Given the description of an element on the screen output the (x, y) to click on. 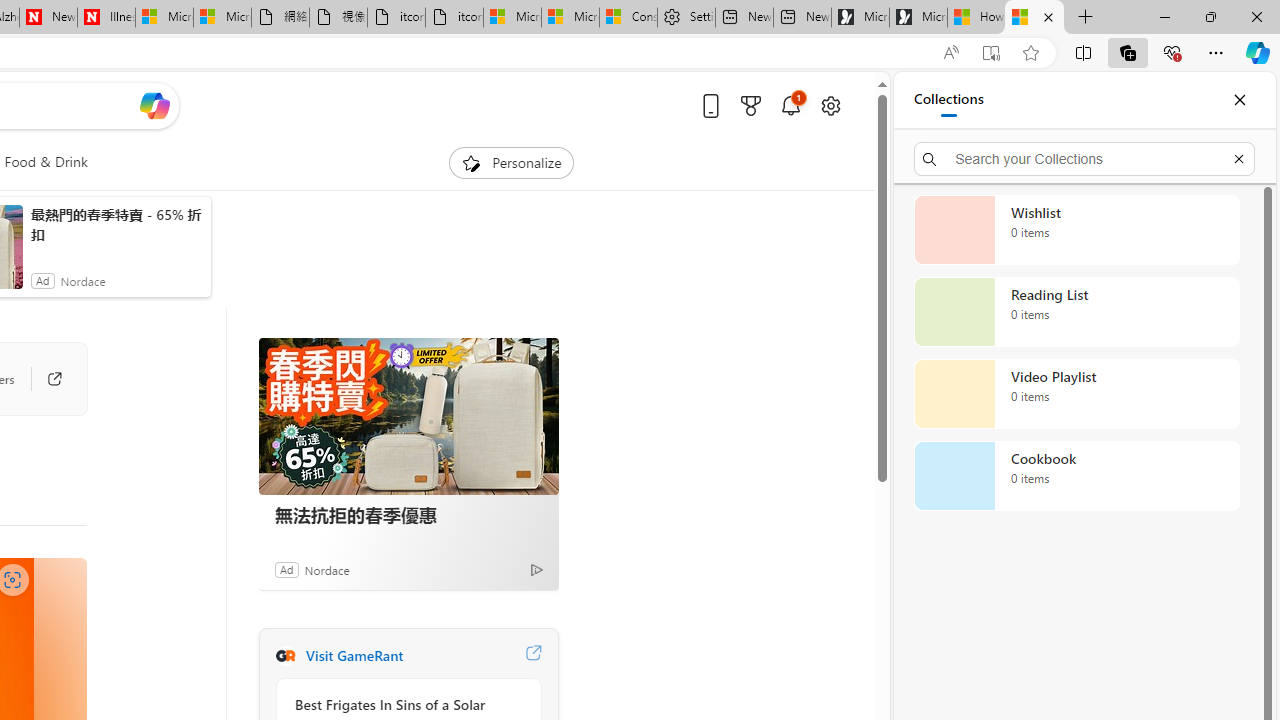
Notifications (790, 105)
Microsoft account | Privacy (570, 17)
GameRant (285, 655)
Consumer Health Data Privacy Policy (628, 17)
To get missing image descriptions, open the context menu. (471, 162)
Enter Immersive Reader (F9) (991, 53)
Open Copilot (155, 105)
Ad (286, 569)
How to Use a TV as a Computer Monitor (1034, 17)
Microsoft Start Gaming (918, 17)
Newsweek - News, Analysis, Politics, Business, Technology (48, 17)
